Given the description of an element on the screen output the (x, y) to click on. 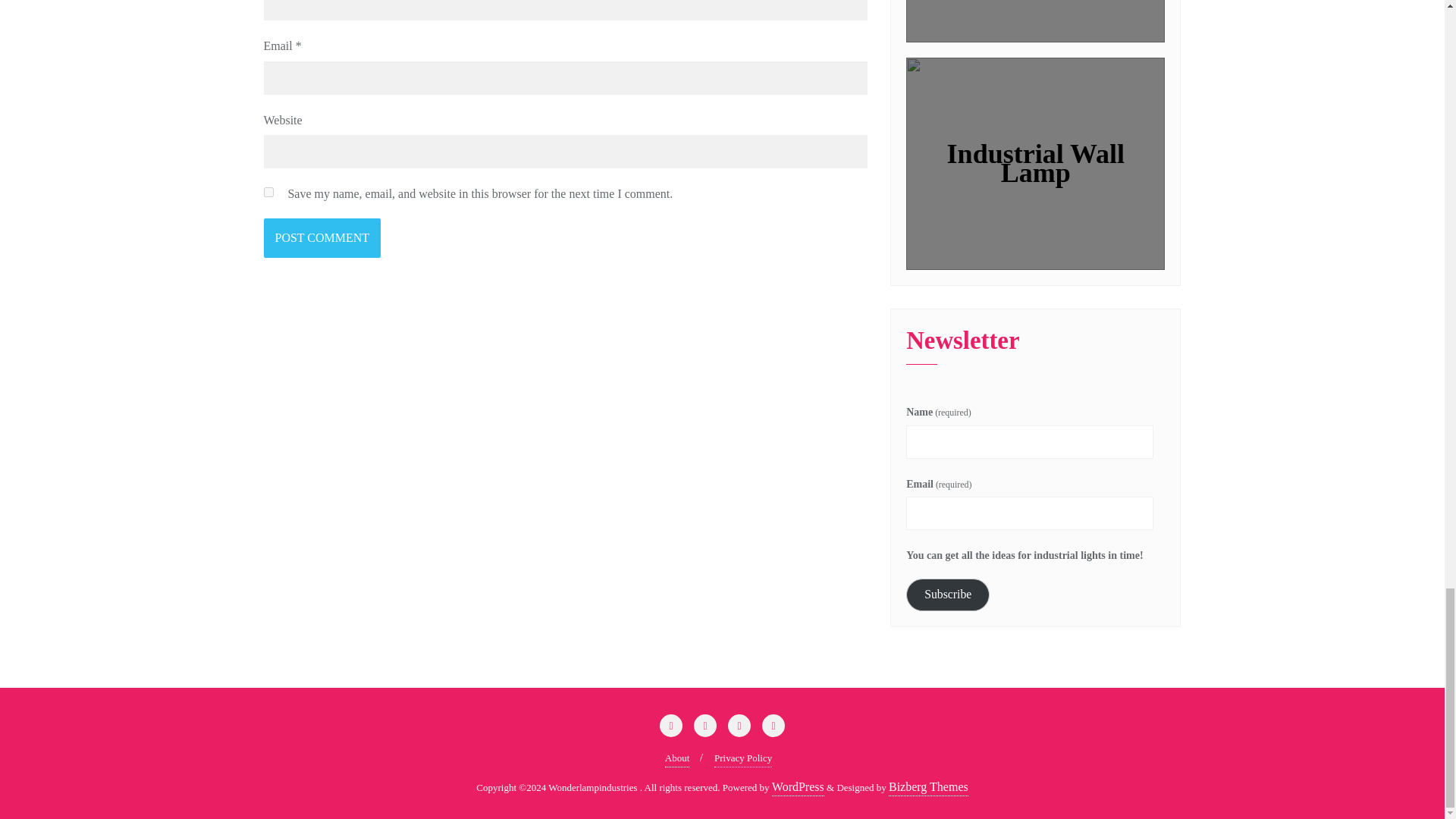
Post Comment (322, 238)
yes (268, 192)
Post Comment (322, 238)
